Given the description of an element on the screen output the (x, y) to click on. 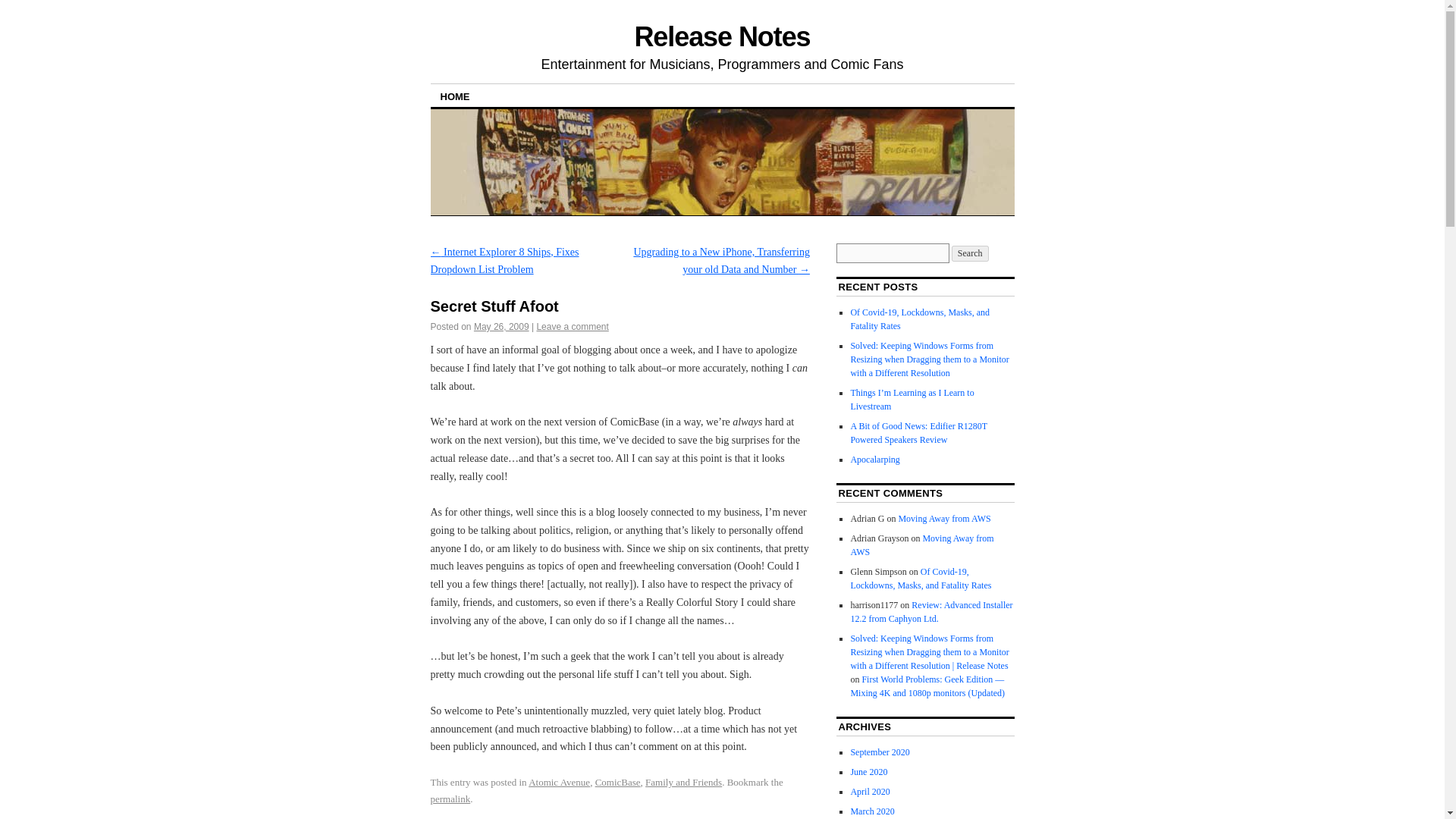
April 2020 (869, 791)
Release Notes (721, 36)
ComicBase (617, 781)
Of Covid-19, Lockdowns, Masks, and Fatality Rates (920, 319)
March 2020 (871, 810)
Apocalarping (874, 459)
Search (970, 253)
Permalink to Secret Stuff Afoot (450, 798)
June 2020 (868, 771)
Atomic Avenue (558, 781)
Moving Away from AWS (944, 518)
September 2020 (879, 751)
permalink (450, 798)
Review: Advanced Installer 12.2 from Caphyon Ltd. (930, 611)
